Given the description of an element on the screen output the (x, y) to click on. 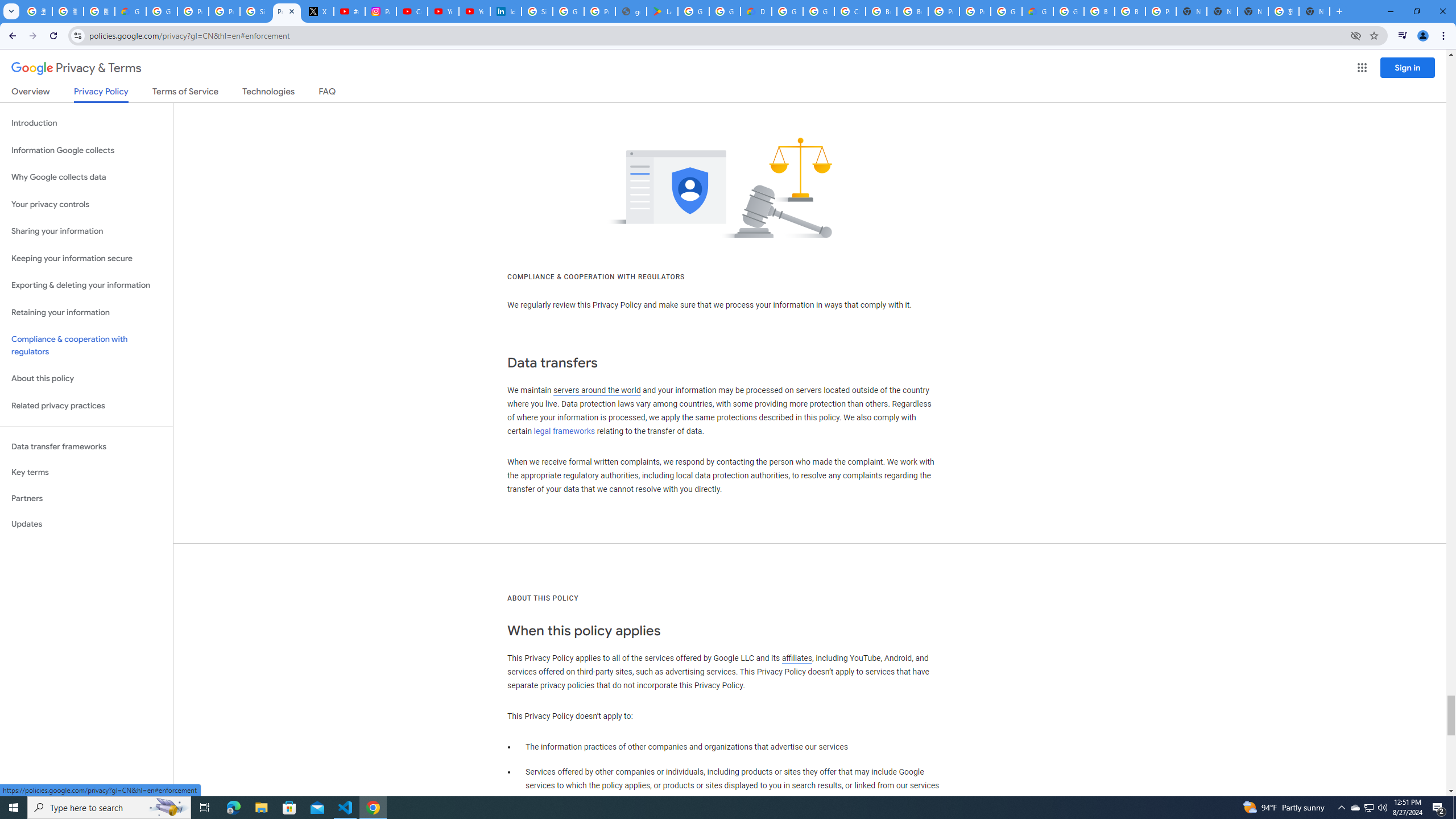
YouTube Culture & Trends - YouTube Top 10, 2021 (474, 11)
Sign in - Google Accounts (536, 11)
#nbabasketballhighlights - YouTube (349, 11)
